Given the description of an element on the screen output the (x, y) to click on. 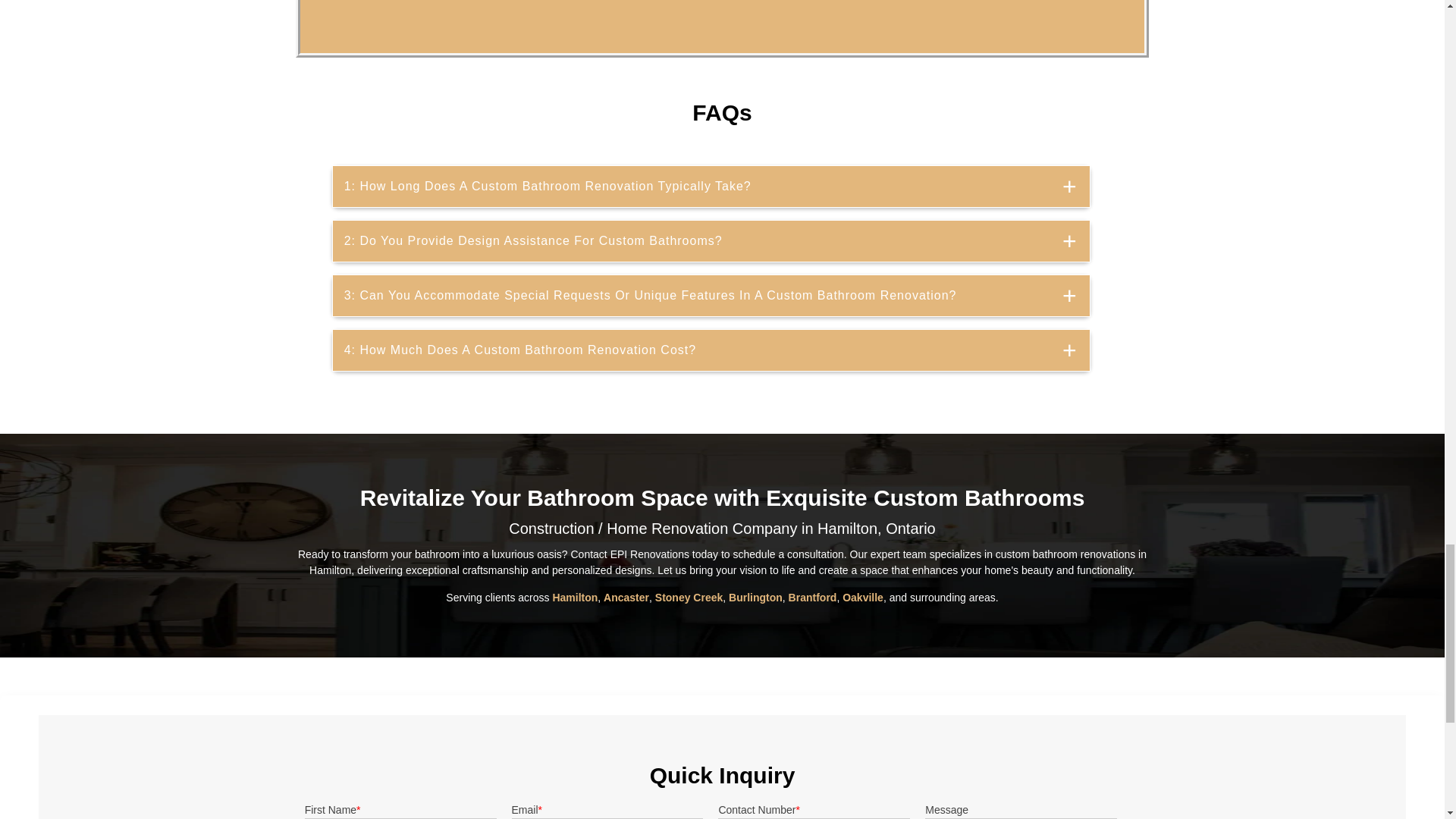
Ancaster (626, 597)
Hamilton (573, 597)
Stoney Creek (688, 597)
Oakville (863, 597)
Burlington (756, 597)
Brantford (813, 597)
